Given the description of an element on the screen output the (x, y) to click on. 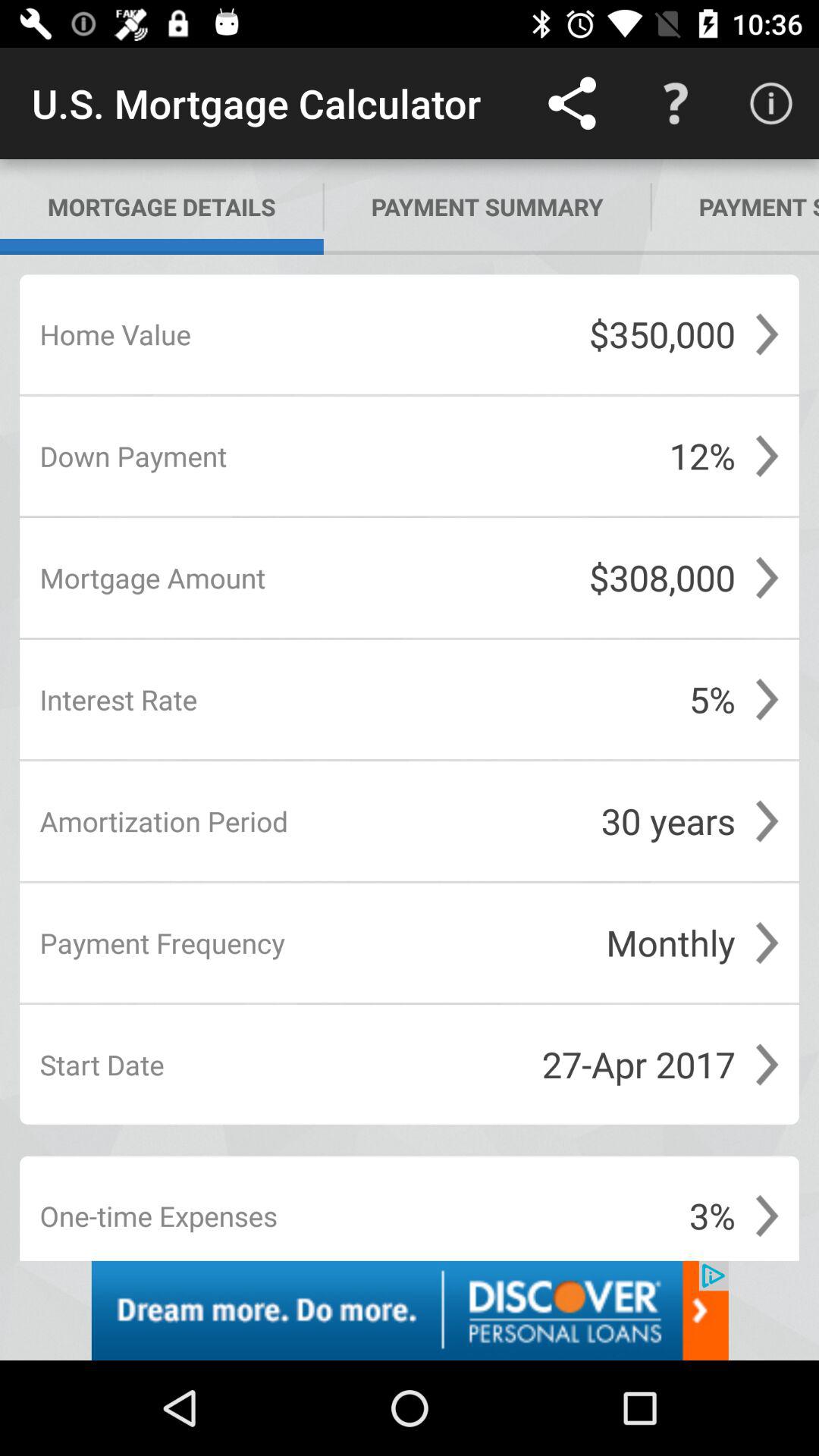
advertisement link (409, 1310)
